Given the description of an element on the screen output the (x, y) to click on. 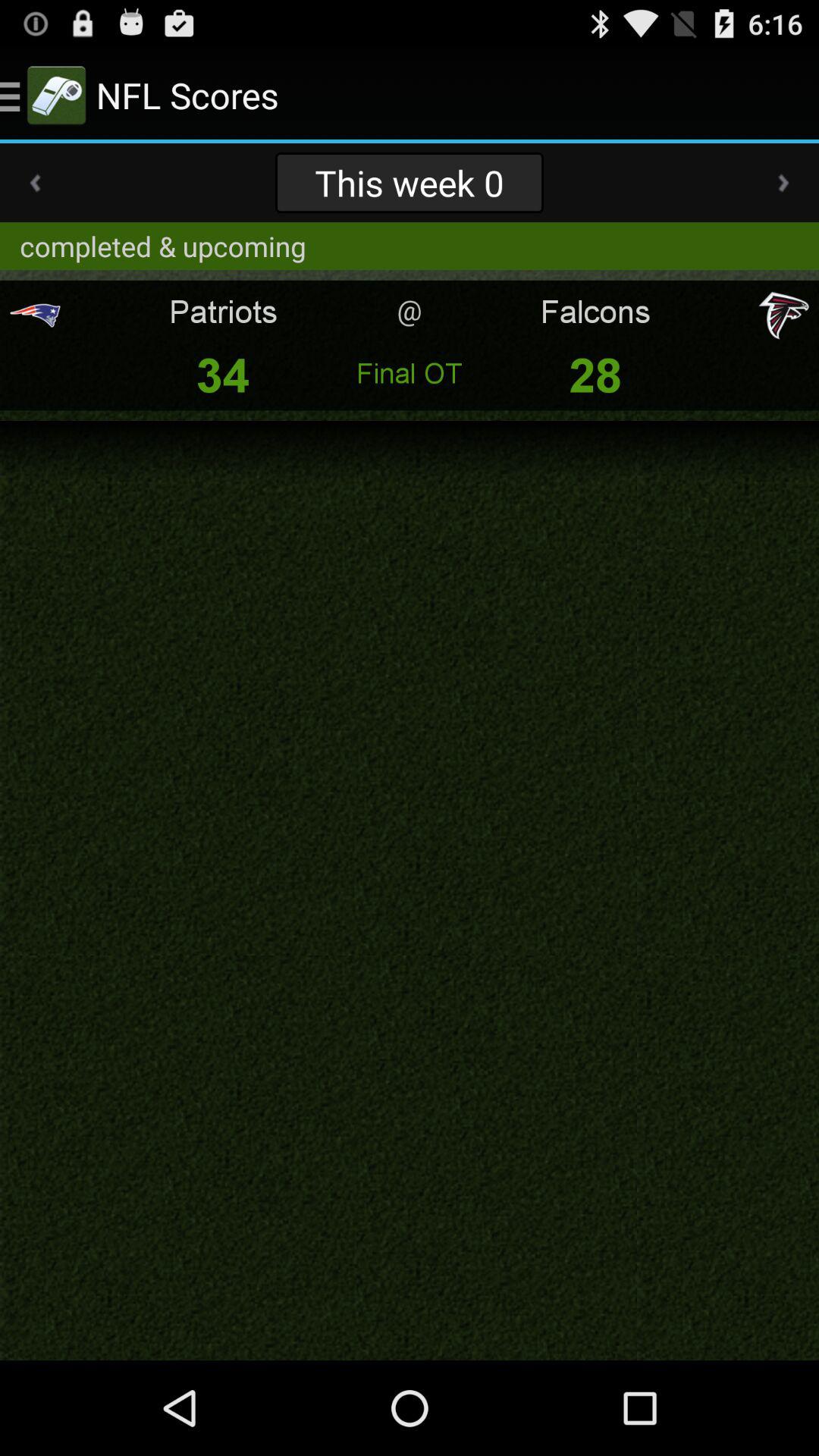
open app above completed & upcoming (35, 182)
